Given the description of an element on the screen output the (x, y) to click on. 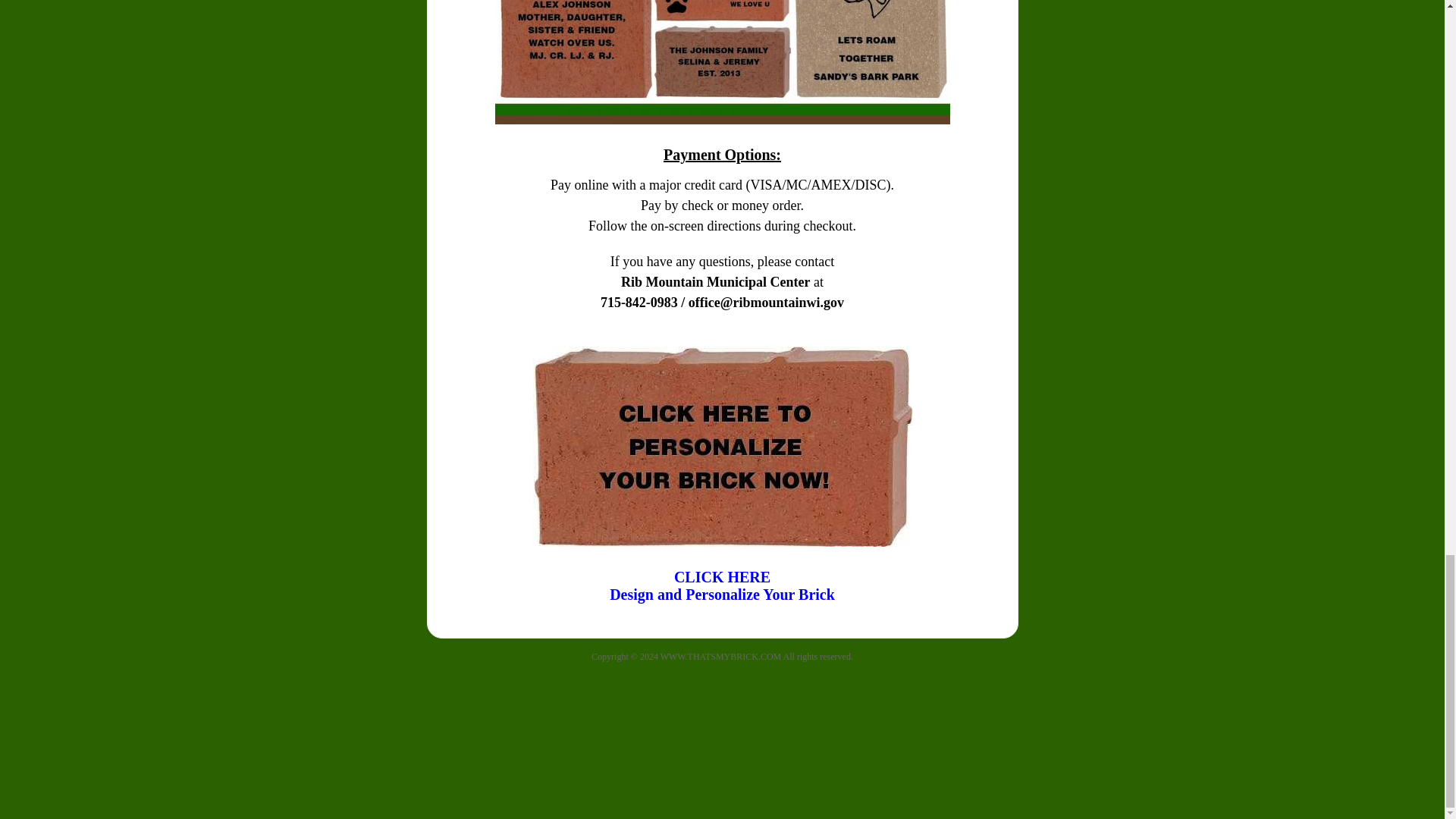
Call to Action (721, 446)
